Given the description of an element on the screen output the (x, y) to click on. 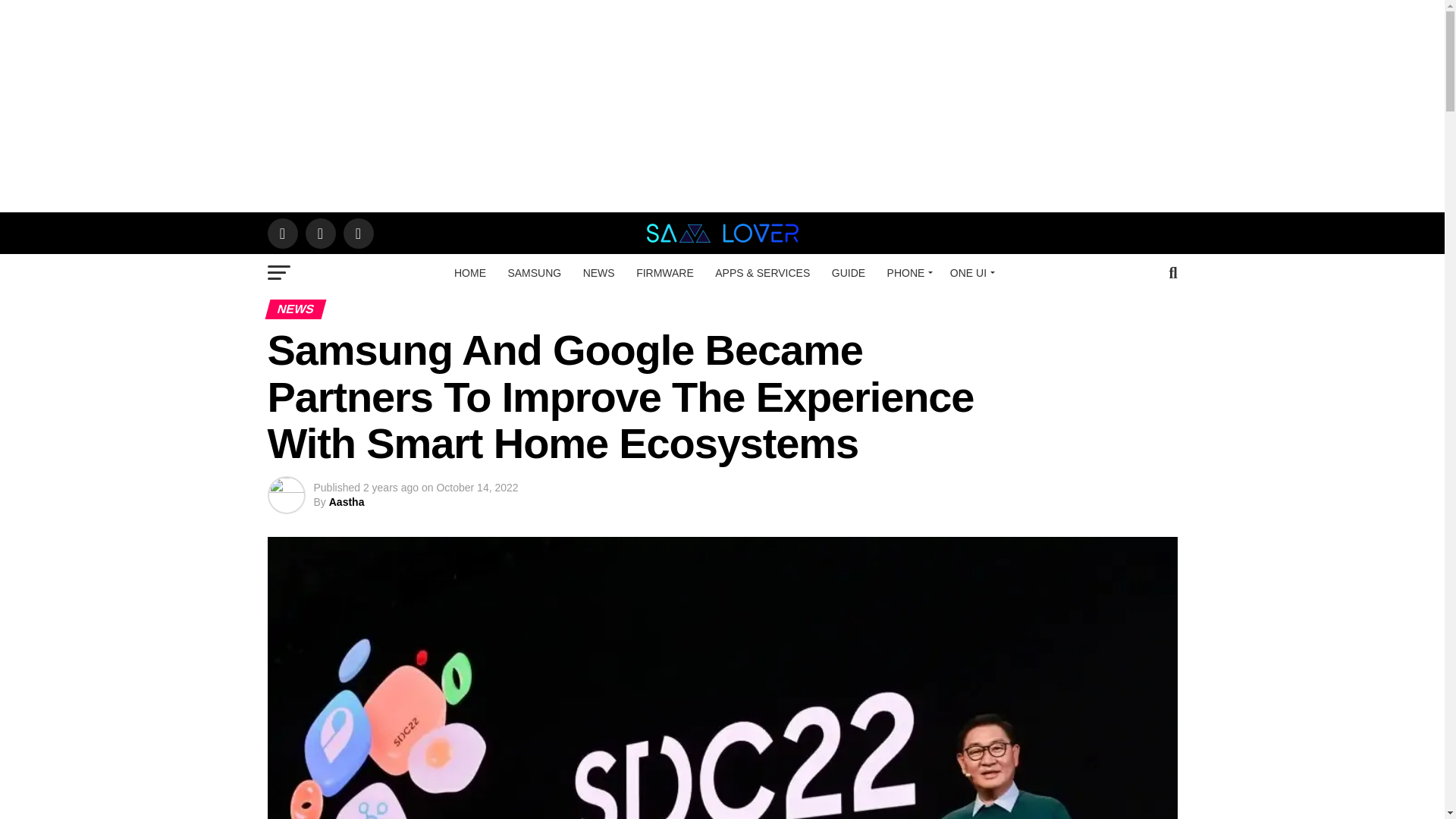
SAMSUNG (533, 272)
NEWS (598, 272)
FIRMWARE (665, 272)
HOME (470, 272)
Posts by Aastha (347, 501)
